Given the description of an element on the screen output the (x, y) to click on. 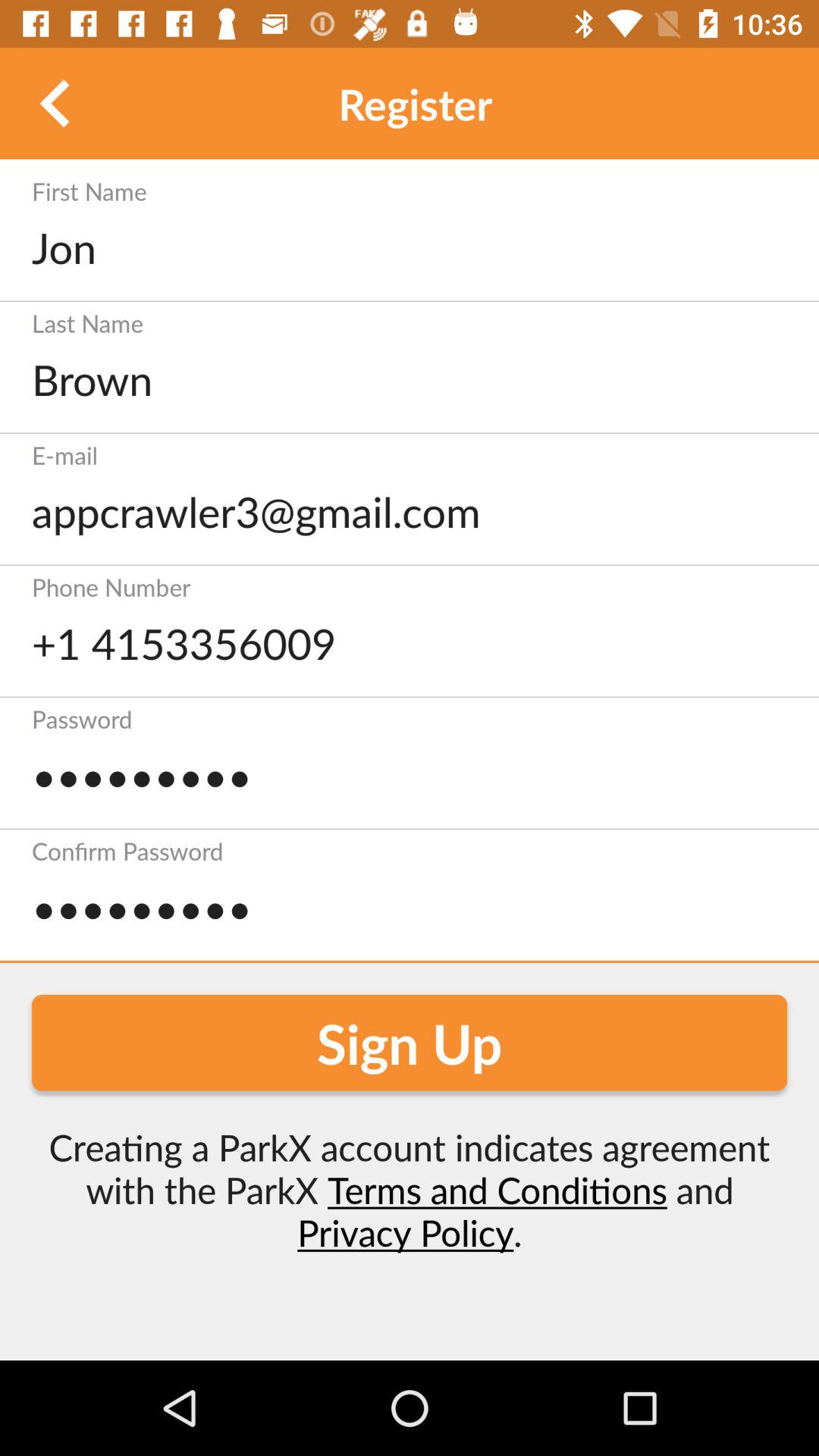
click on previous (55, 103)
